Given the description of an element on the screen output the (x, y) to click on. 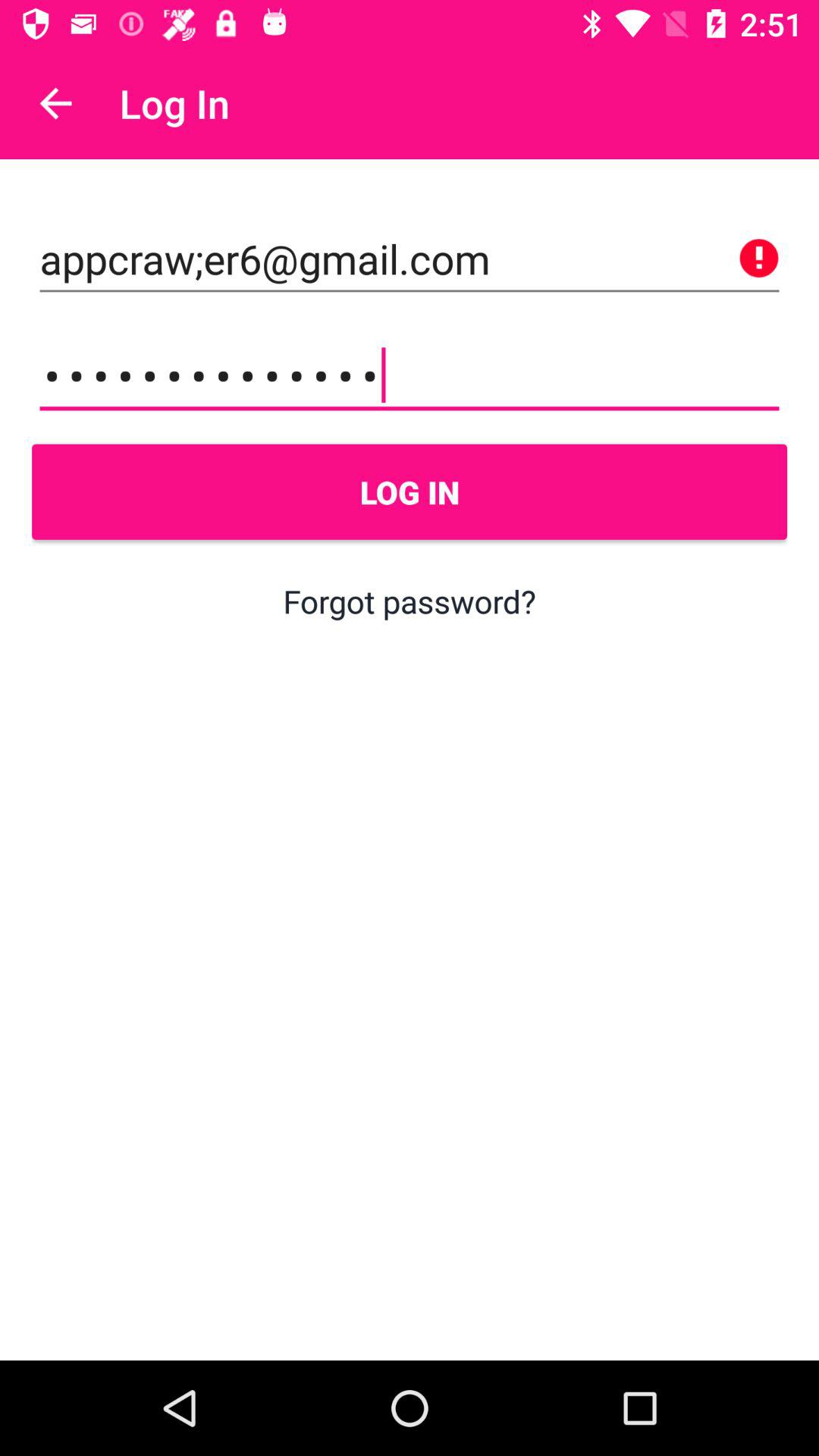
press icon to the left of log in (55, 103)
